Given the description of an element on the screen output the (x, y) to click on. 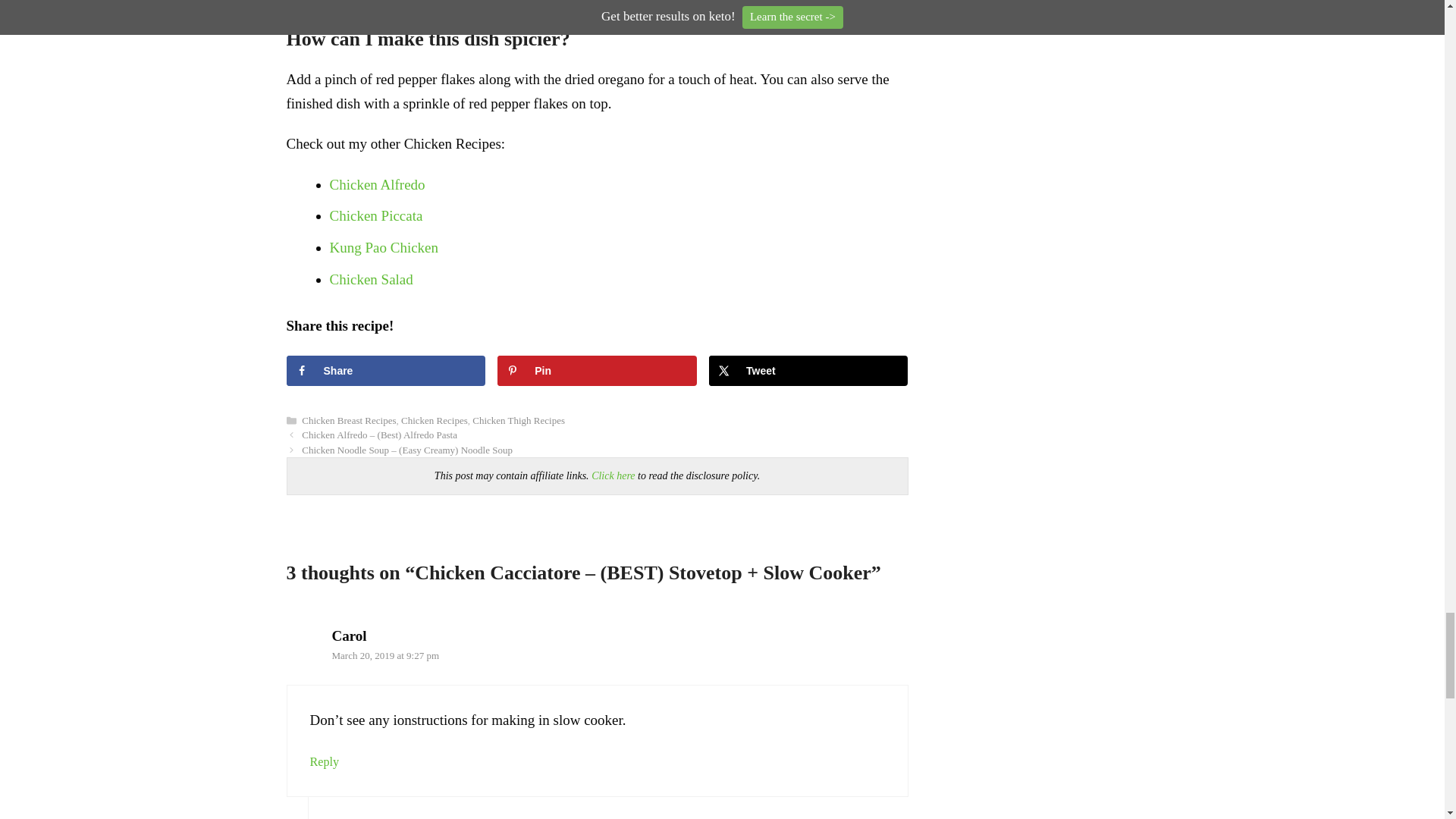
Pin (596, 370)
Save to Pinterest (596, 370)
Chicken Piccata (375, 215)
Share on X (808, 370)
Share (385, 370)
Chicken Breast Recipes (348, 419)
Chicken Alfredo (377, 184)
Tweet (808, 370)
Kung Pao Chicken (383, 247)
Chicken Recipes (434, 419)
